Given the description of an element on the screen output the (x, y) to click on. 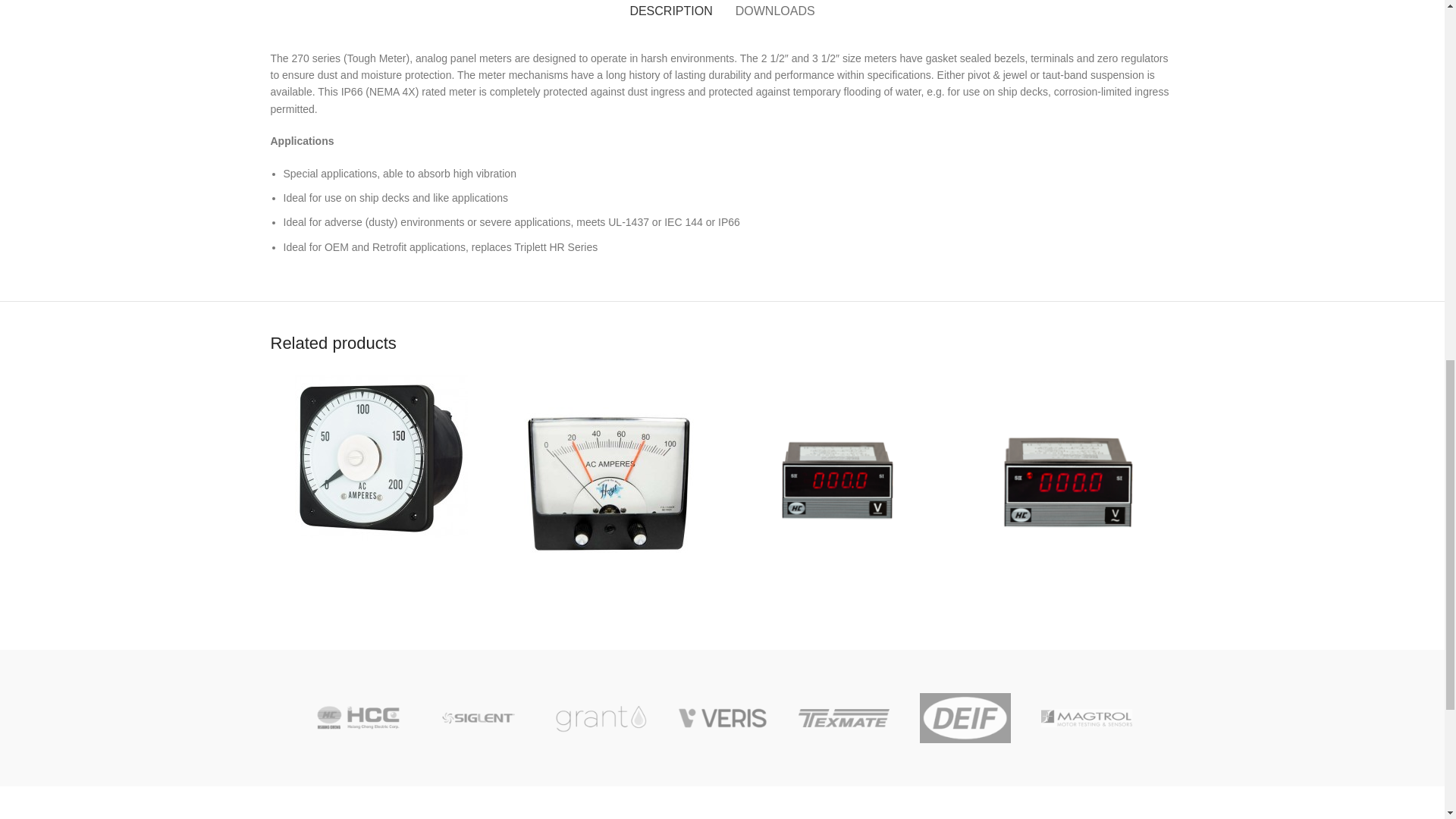
Hoyt Electrical Instrument Works (1207, 717)
Grant Instruments (600, 717)
Veris (722, 717)
Magtrol (1086, 717)
DEIF (964, 717)
Texmate (843, 717)
Siglent (479, 717)
Yokogawa (1328, 717)
Hsiang Cheng Electric Corporation (358, 717)
